Given the description of an element on the screen output the (x, y) to click on. 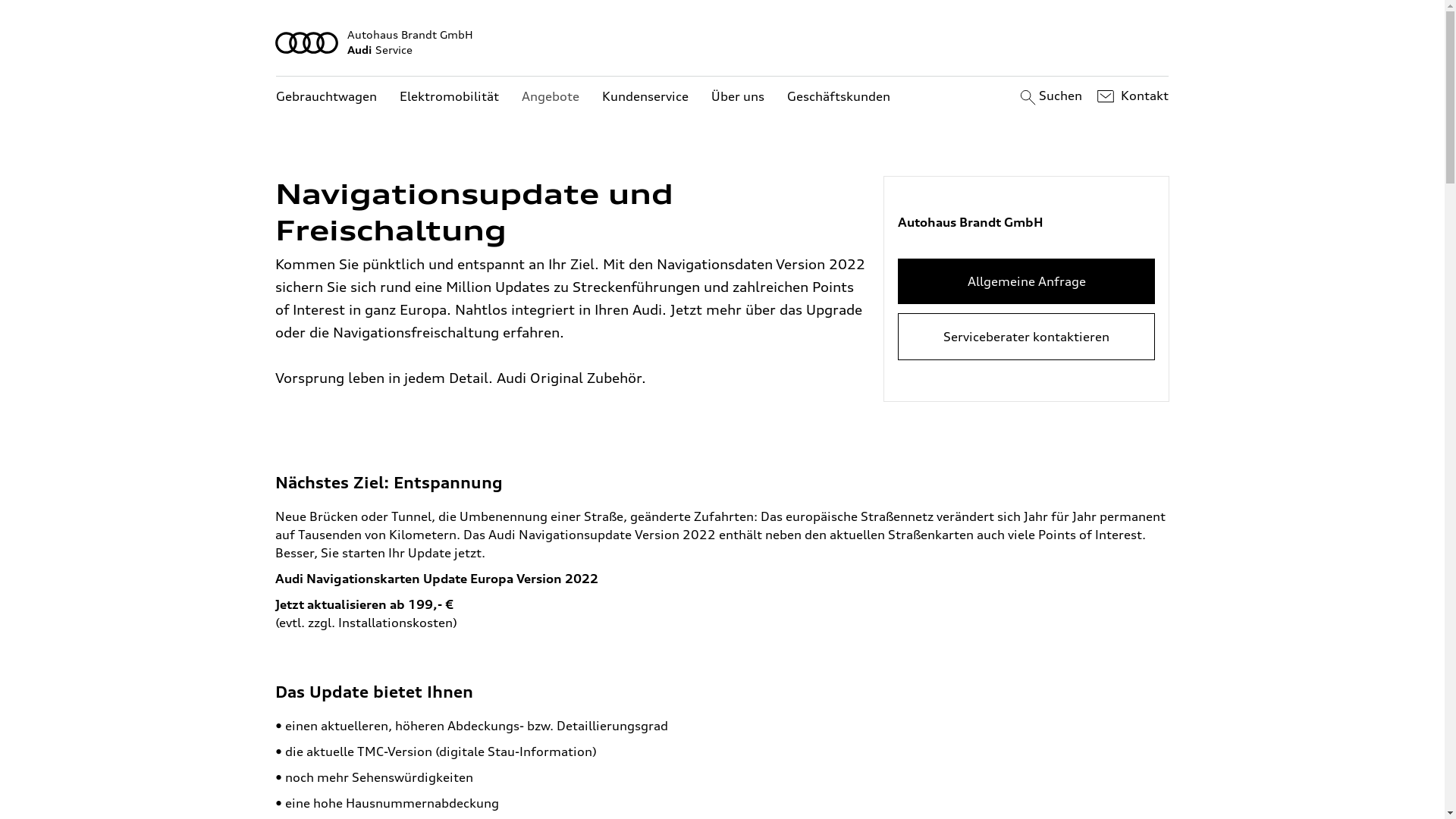
Angebote Element type: text (550, 96)
Gebrauchtwagen Element type: text (326, 96)
Allgemeine Anfrage Element type: text (1025, 281)
Serviceberater kontaktieren Element type: text (1025, 336)
Kundenservice Element type: text (645, 96)
Autohaus Brandt GmbH
AudiService Element type: text (722, 42)
Suchen Element type: text (1049, 96)
Kontakt Element type: text (1130, 96)
